Given the description of an element on the screen output the (x, y) to click on. 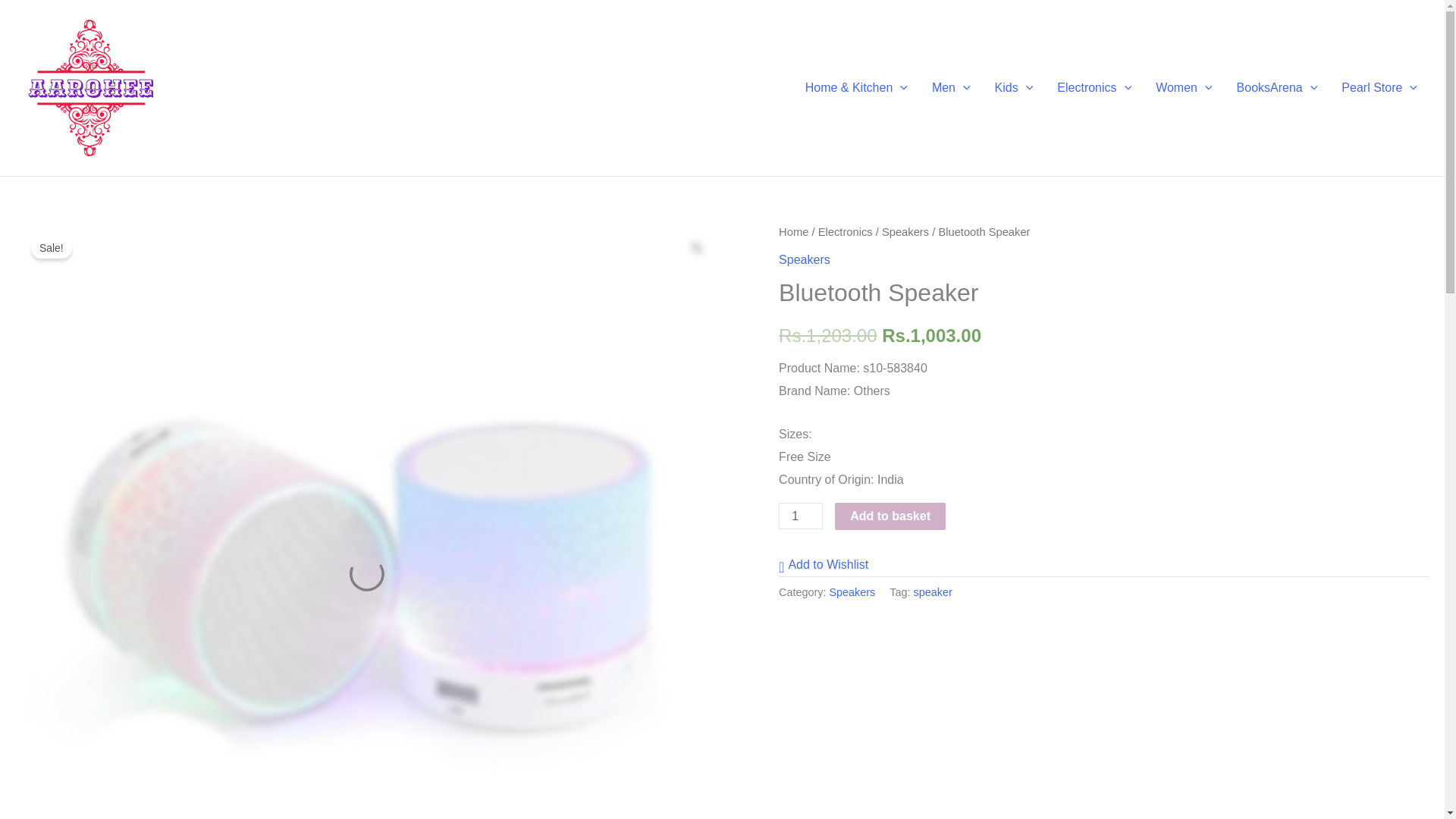
1 (800, 515)
Men (951, 87)
